Given the description of an element on the screen output the (x, y) to click on. 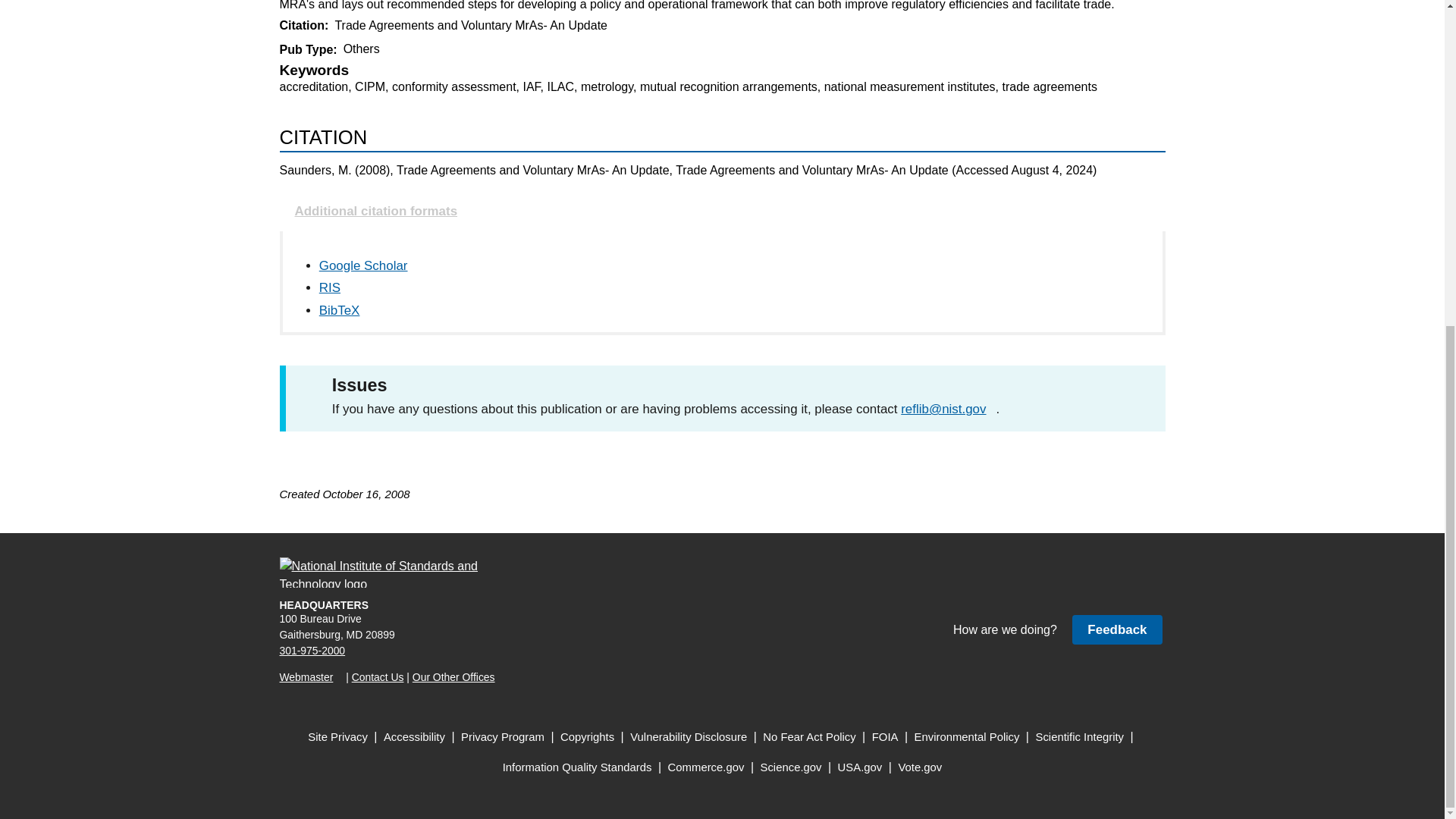
National Institute of Standards and Technology (387, 572)
Provide feedback (1116, 629)
